Given the description of an element on the screen output the (x, y) to click on. 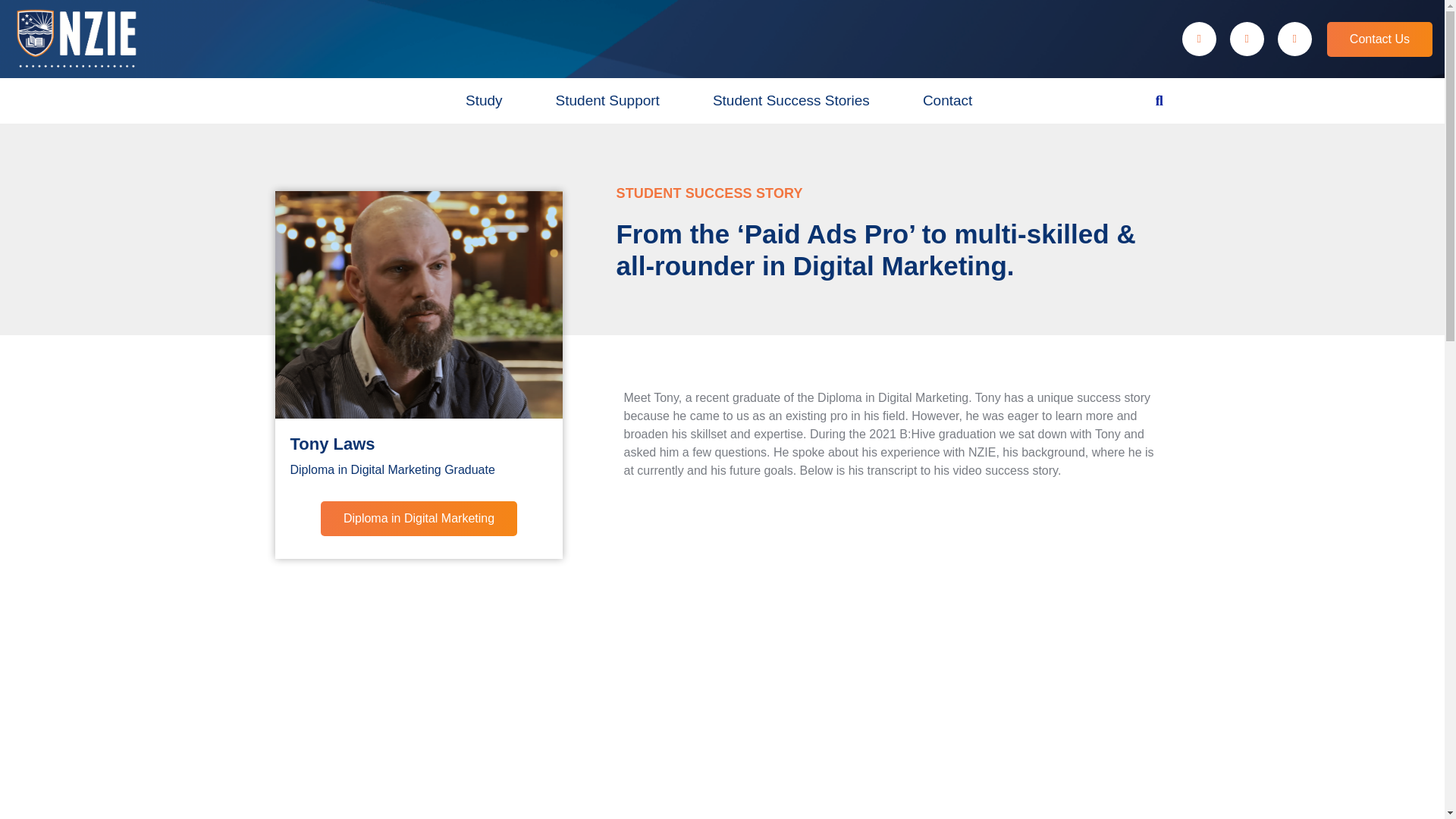
digital marketing graduate Tony (418, 304)
Facebook (1198, 39)
Student Support (607, 100)
Student Success Stories (790, 100)
Contact Us (718, 100)
Diploma in Digital Marketing (1379, 39)
Instagram (418, 518)
Youtube (1294, 39)
